Given the description of an element on the screen output the (x, y) to click on. 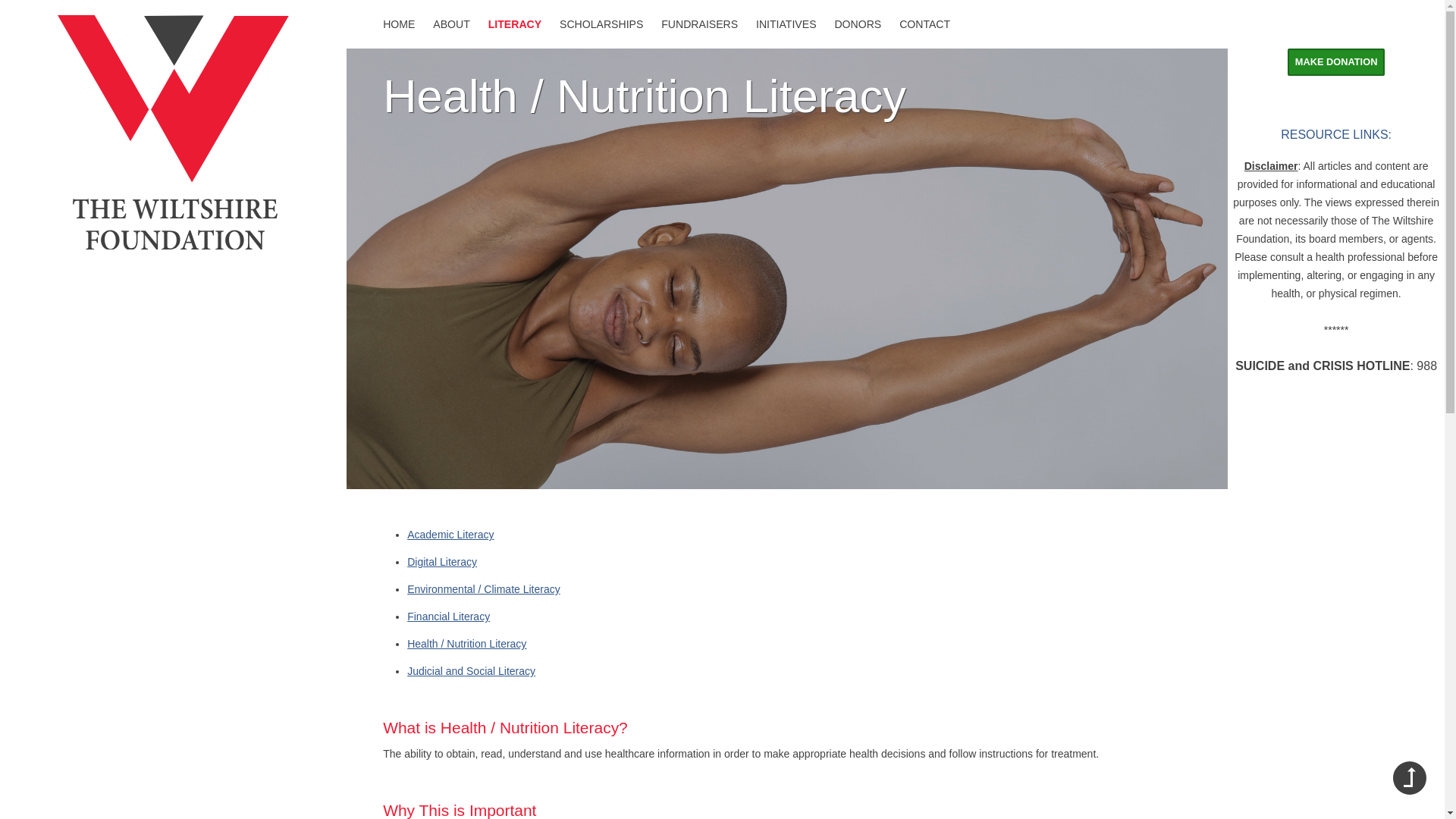
ABOUT (451, 24)
CONTACT (924, 24)
HOME (398, 24)
Judicial and Social Literacy (471, 671)
LITERACY (514, 24)
Back to Top (1409, 777)
Academic Literacy (450, 534)
INITIATIVES (785, 24)
MAKE DONATION (1336, 62)
SCHOLARSHIPS (601, 24)
